Given the description of an element on the screen output the (x, y) to click on. 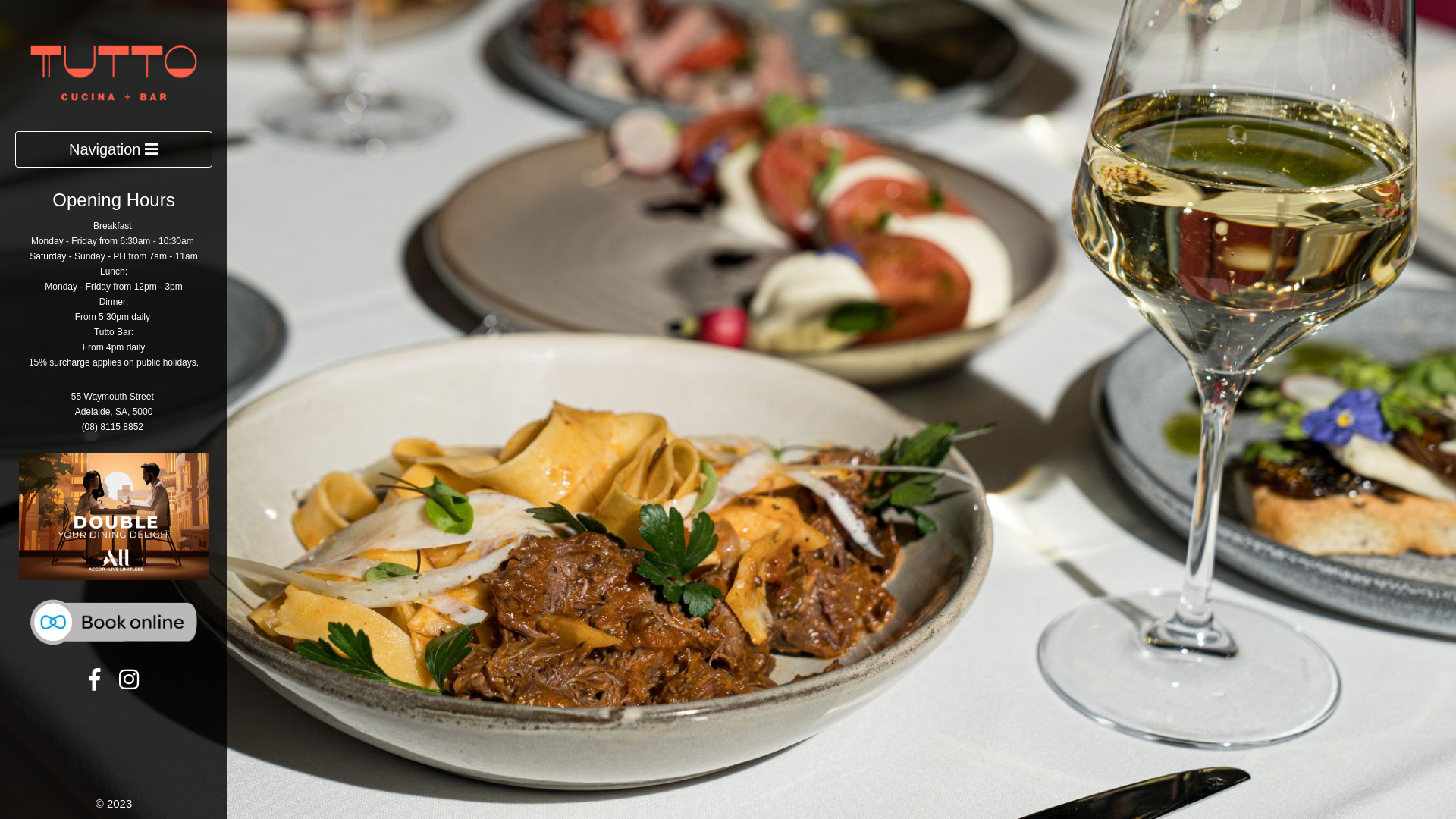
(08) 8115 8852 Element type: text (112, 426)
Tutto Cucina Element type: hover (113, 71)
Navigation Element type: text (113, 149)
Instagram Element type: hover (128, 683)
Facebook Element type: hover (94, 683)
